Given the description of an element on the screen output the (x, y) to click on. 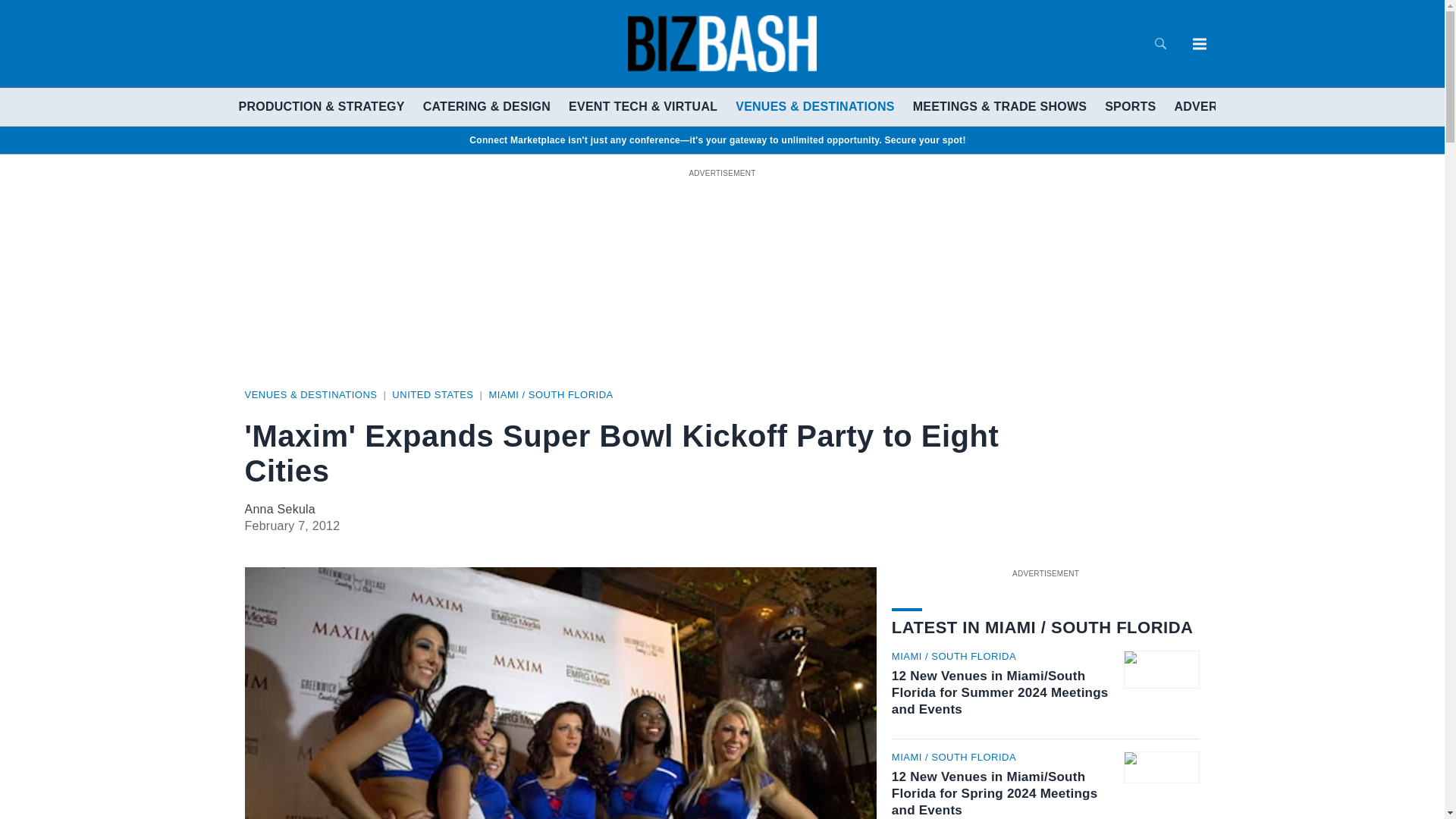
SPORTS (1130, 106)
EVENTS (1288, 106)
ADVERTISE (1208, 106)
United States (432, 394)
